Given the description of an element on the screen output the (x, y) to click on. 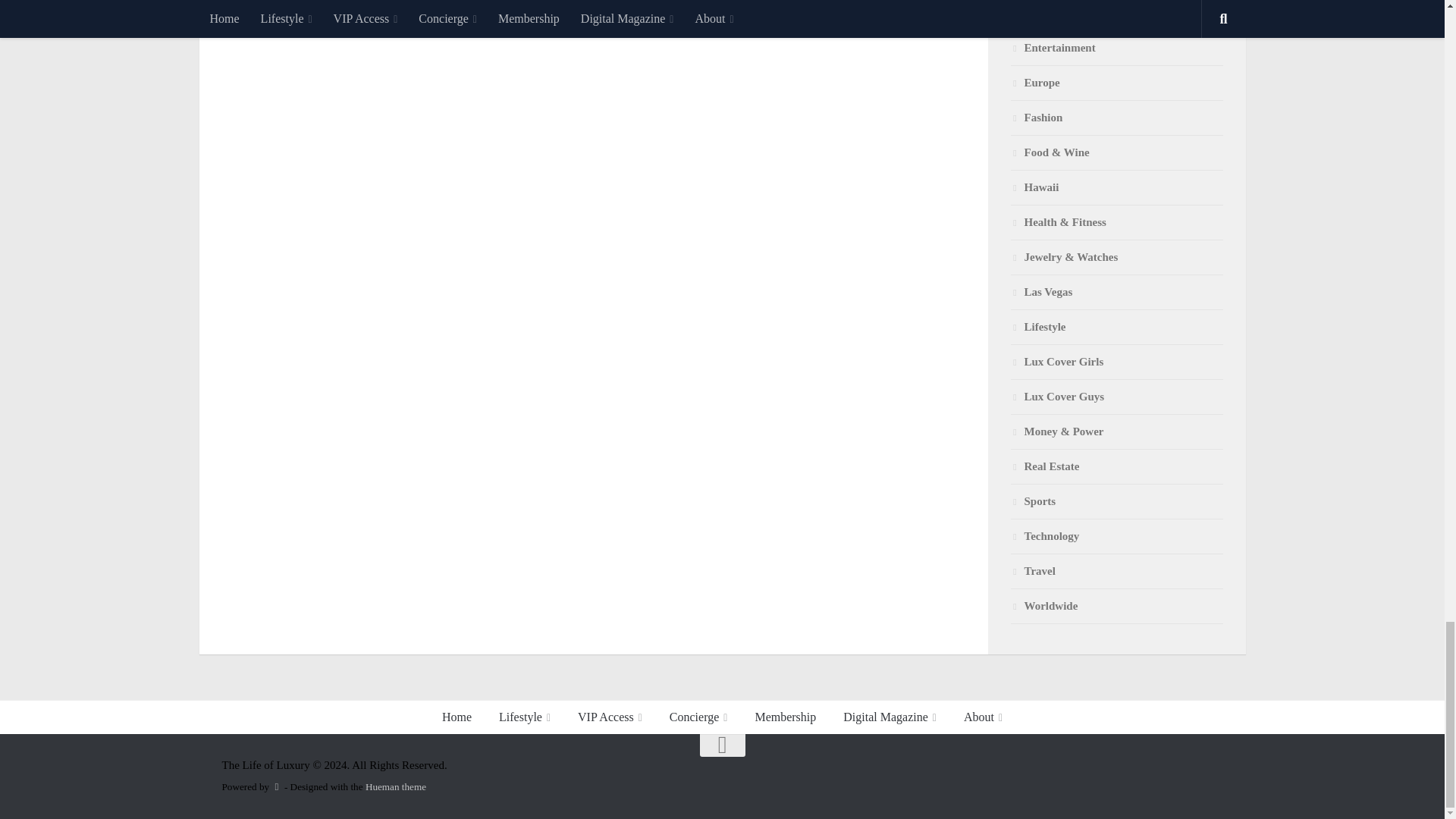
Hueman theme (395, 786)
Powered by WordPress (275, 786)
